Given the description of an element on the screen output the (x, y) to click on. 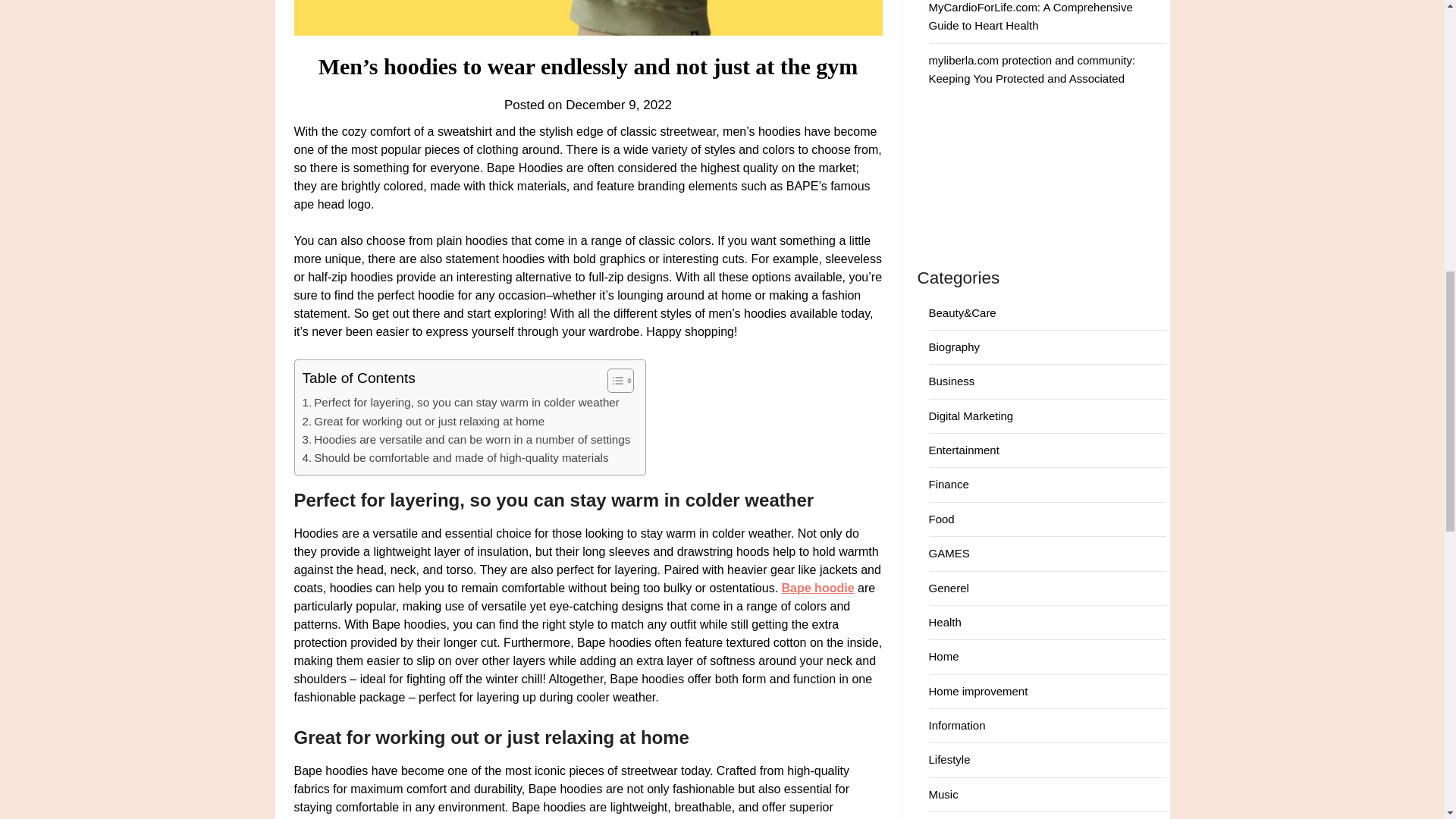
Entertainment (963, 449)
Finance (948, 483)
Health (944, 621)
Should be comfortable and made of high-quality materials (454, 457)
Business (951, 380)
Generel (948, 587)
Food (940, 518)
Perfect for layering, so you can stay warm in colder weather (459, 402)
Bape hoodie (817, 587)
MyCardioForLife.com: A Comprehensive Guide to Heart Health (1030, 15)
December 9, 2022 (618, 104)
GAMES (948, 553)
